Given the description of an element on the screen output the (x, y) to click on. 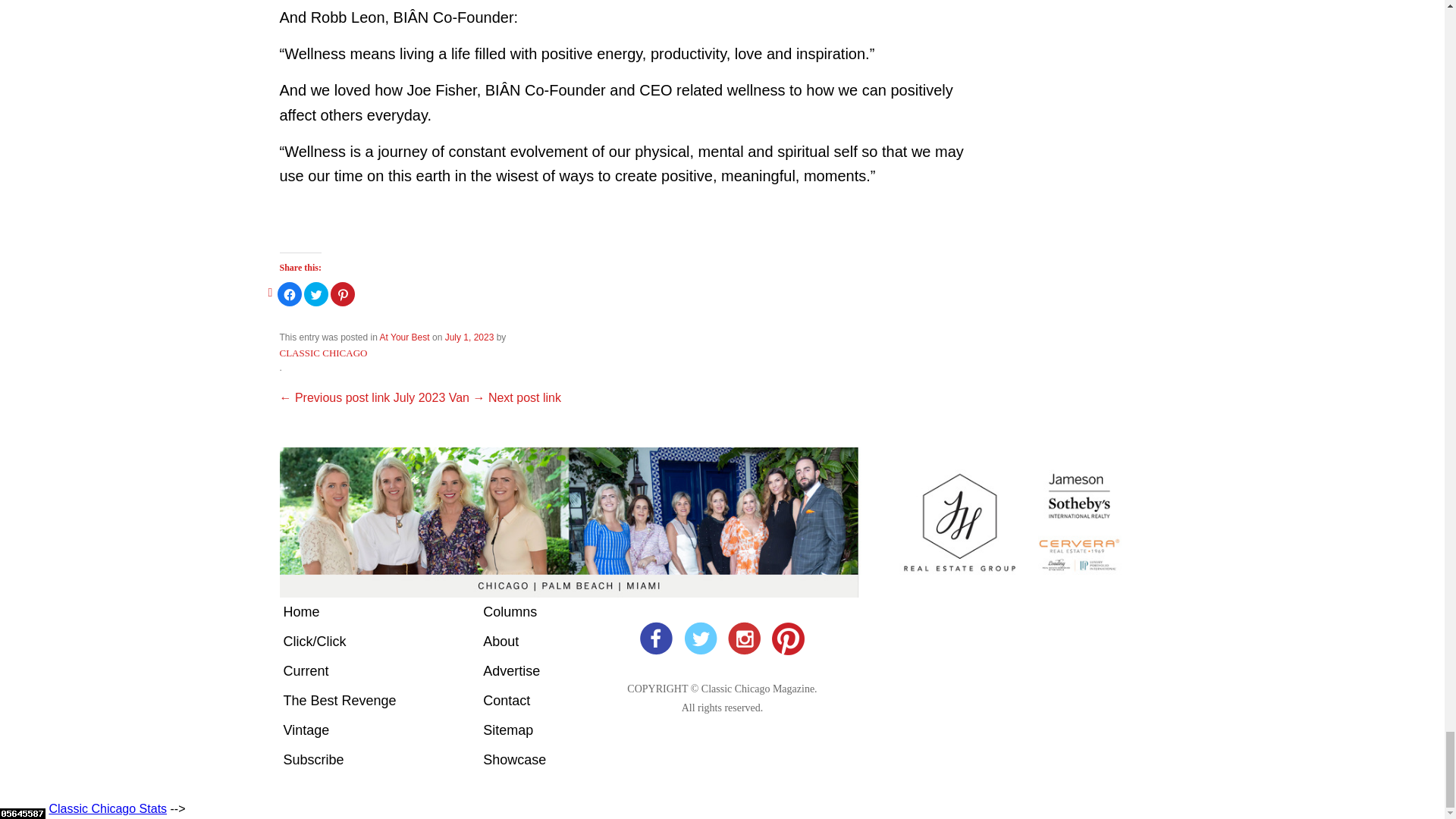
Click to share on Facebook (289, 293)
Click to share on Twitter (316, 293)
View all posts by Classic Chicago (322, 352)
Click to share on Pinterest (342, 293)
3:46 pm (470, 337)
